Given the description of an element on the screen output the (x, y) to click on. 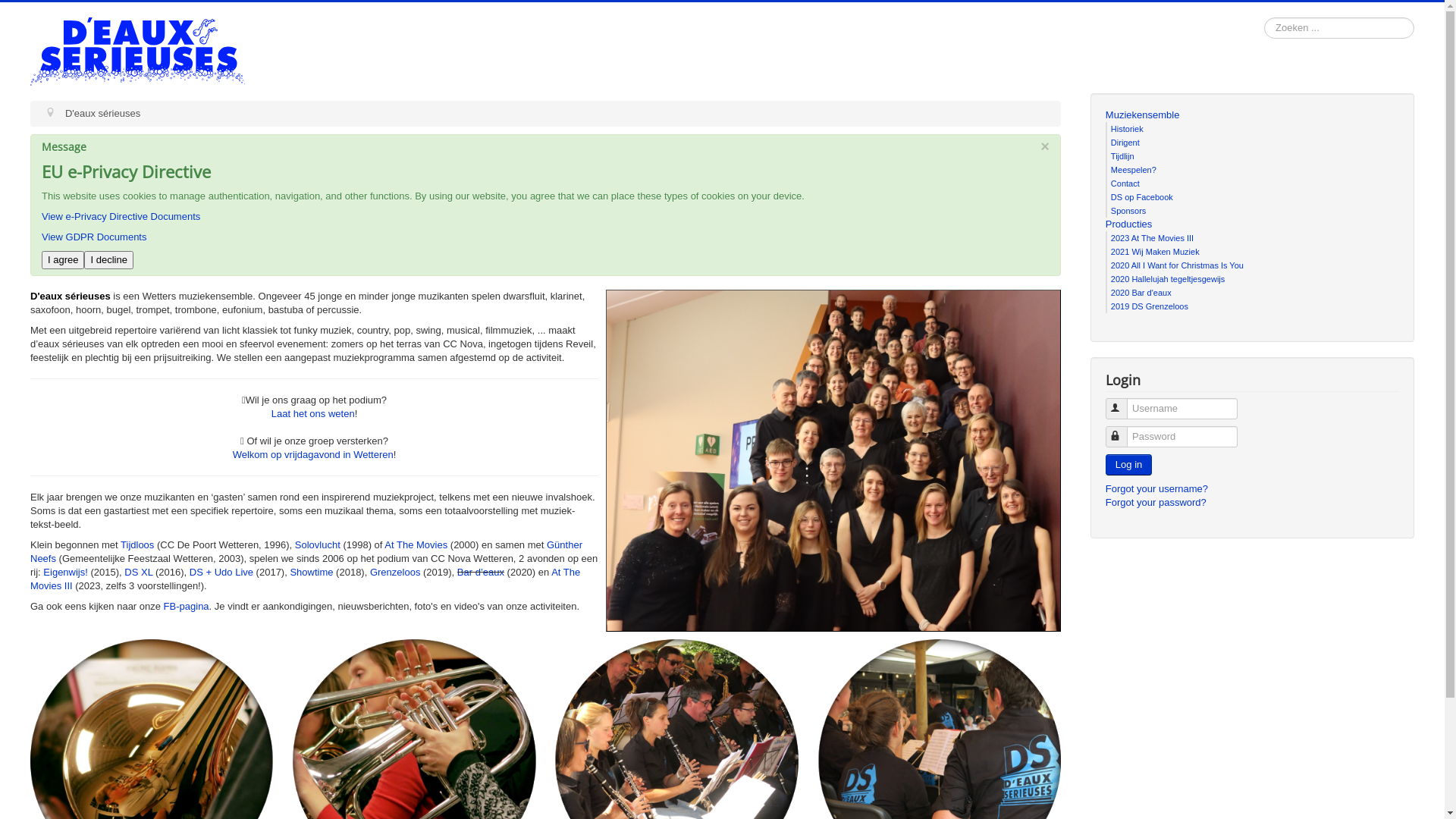
DS XL Element type: text (138, 571)
Grenzeloos Element type: text (395, 571)
View e-Privacy Directive Documents Element type: text (120, 216)
Producties Element type: text (1252, 224)
2023 At The Movies III Element type: text (1151, 237)
Contact Element type: text (1124, 183)
Tijdlijn Element type: text (1122, 155)
I decline Element type: text (108, 260)
2020 Bar d'eaux Element type: text (1140, 292)
Historiek Element type: text (1126, 128)
Forgot your password? Element type: text (1155, 502)
Tijdloos Element type: text (136, 544)
At The Movies III Element type: text (305, 578)
I agree Element type: text (62, 260)
DS op Facebook Element type: text (1141, 196)
Dirigent Element type: text (1124, 142)
Eigenwijs! Element type: text (65, 571)
Log in Element type: text (1128, 464)
Forgot your username? Element type: text (1156, 488)
Meespelen? Element type: text (1133, 169)
2019 DS Grenzeloos Element type: text (1149, 305)
DS + Udo Live Element type: text (221, 571)
Muziekensemble Element type: text (1252, 115)
Showtime Element type: text (310, 571)
2020 All I Want for Christmas Is You Element type: text (1176, 264)
FB-pagina Element type: text (186, 605)
Sponsors Element type: text (1127, 210)
2021 Wij Maken Muziek Element type: text (1154, 251)
View GDPR Documents Element type: text (93, 236)
At The Movies Element type: text (415, 544)
Welkom op vrijdagavond in Wetteren Element type: text (312, 454)
Laat het ons weten Element type: text (312, 413)
2020 Hallelujah tegeltjesgewijs Element type: text (1167, 278)
Solovlucht Element type: text (317, 544)
